Given the description of an element on the screen output the (x, y) to click on. 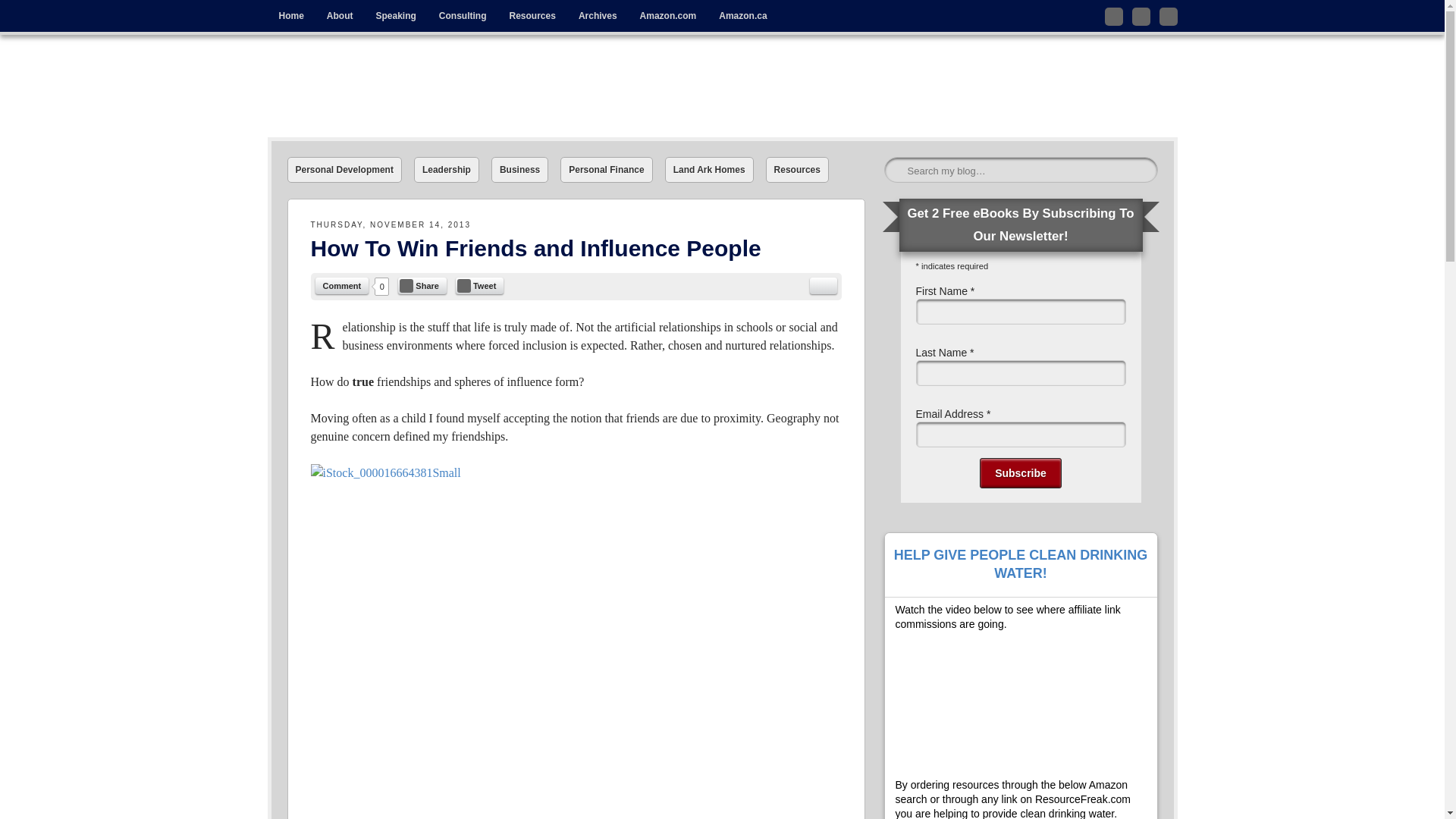
Amazon.com (667, 15)
Consulting (462, 15)
Resources (796, 169)
About (340, 15)
Like me on Facebook (1140, 16)
Share on Facebook (421, 285)
Personal Development (343, 169)
Skip to content (299, 10)
Leadership (446, 169)
Tweet (479, 285)
email (823, 285)
Archives (597, 15)
Go to amazon! (667, 15)
Search (31, 17)
Subscribe (1020, 472)
